Given the description of an element on the screen output the (x, y) to click on. 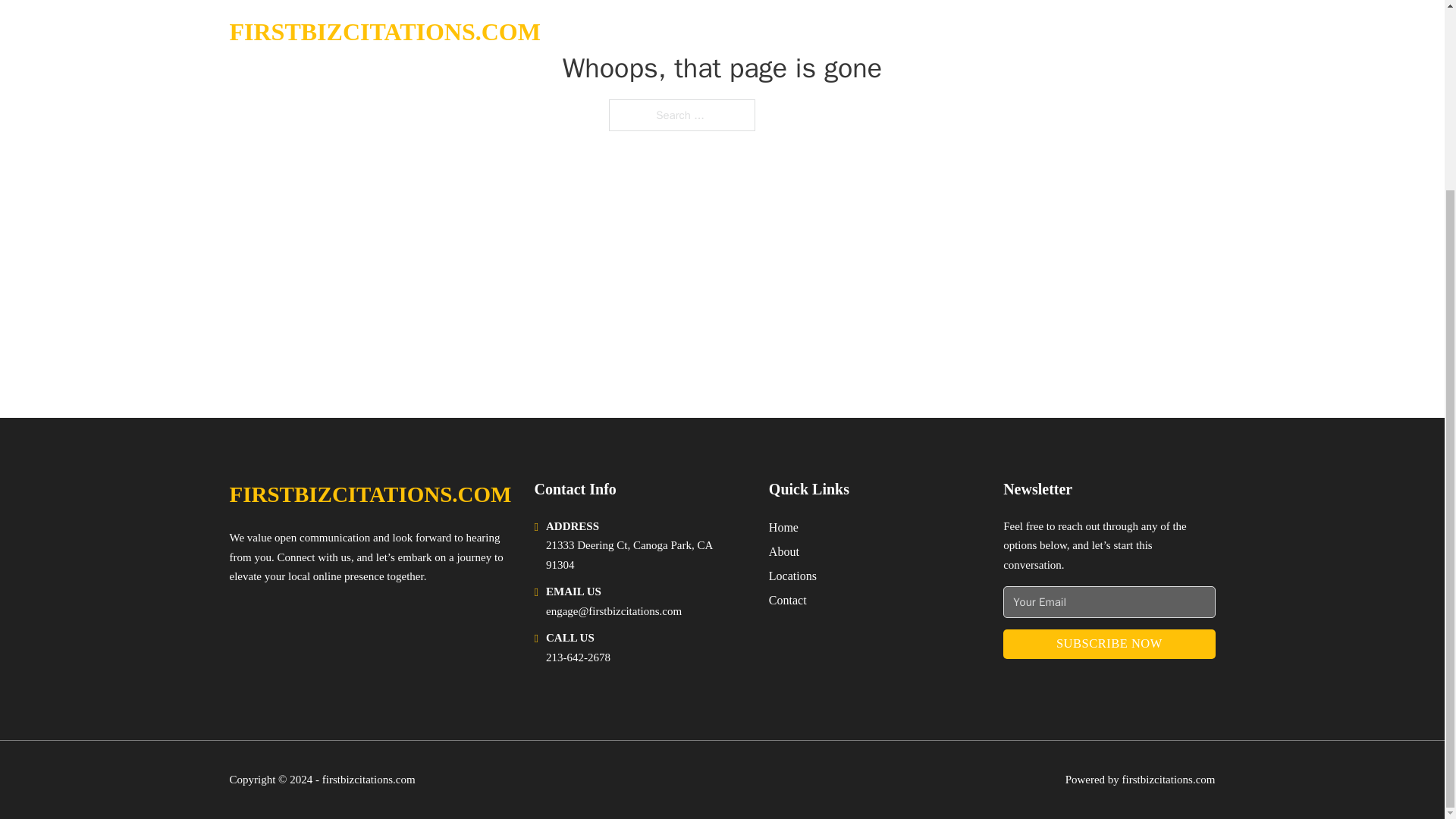
About (783, 551)
213-642-2678 (578, 657)
Locations (792, 575)
SUBSCRIBE NOW (1108, 644)
Home (782, 526)
Contact (787, 599)
FIRSTBIZCITATIONS.COM (369, 494)
